Given the description of an element on the screen output the (x, y) to click on. 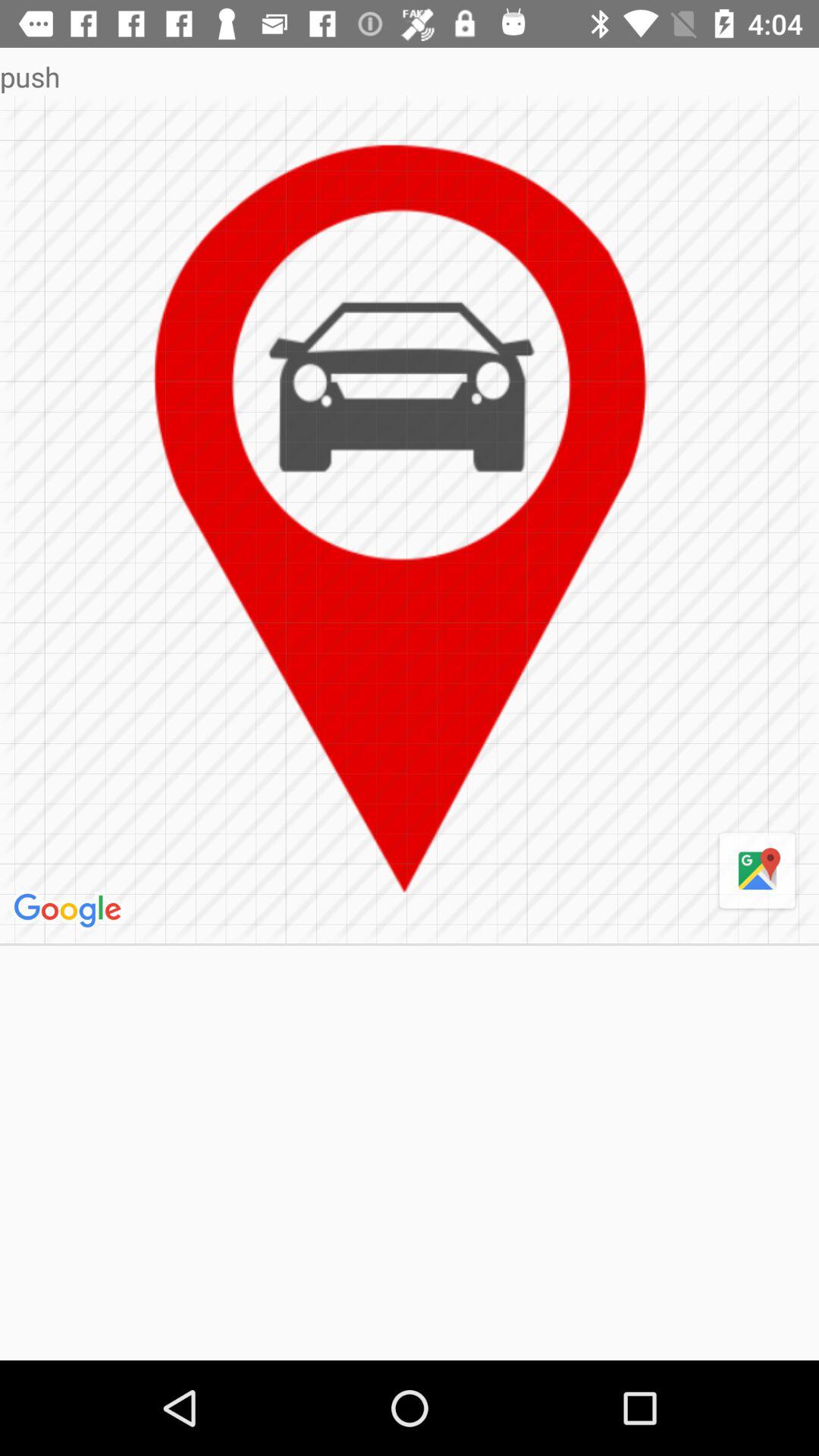
turn off icon on the left (69, 911)
